Given the description of an element on the screen output the (x, y) to click on. 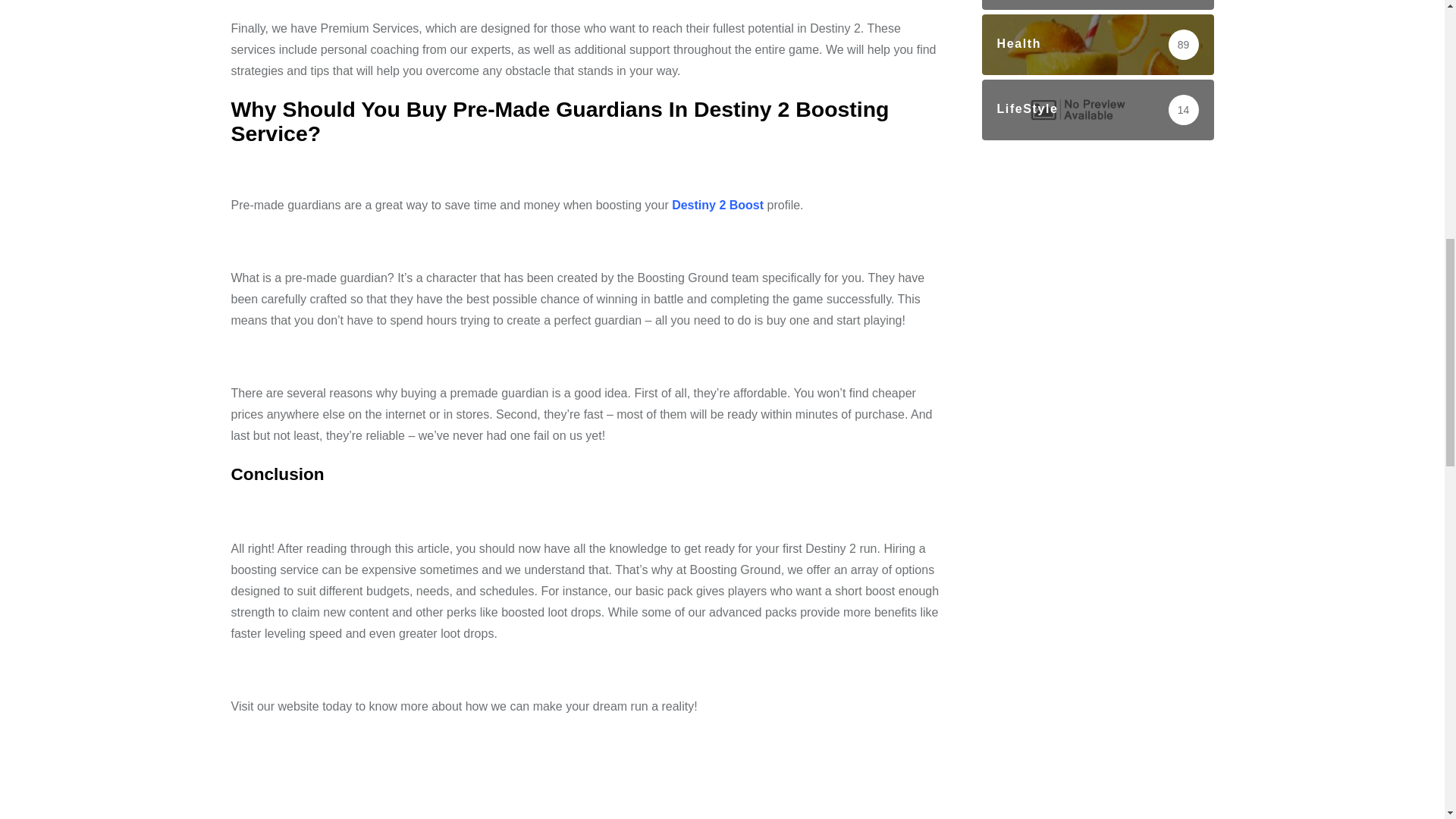
Destiny 2 Boost (716, 205)
